Given the description of an element on the screen output the (x, y) to click on. 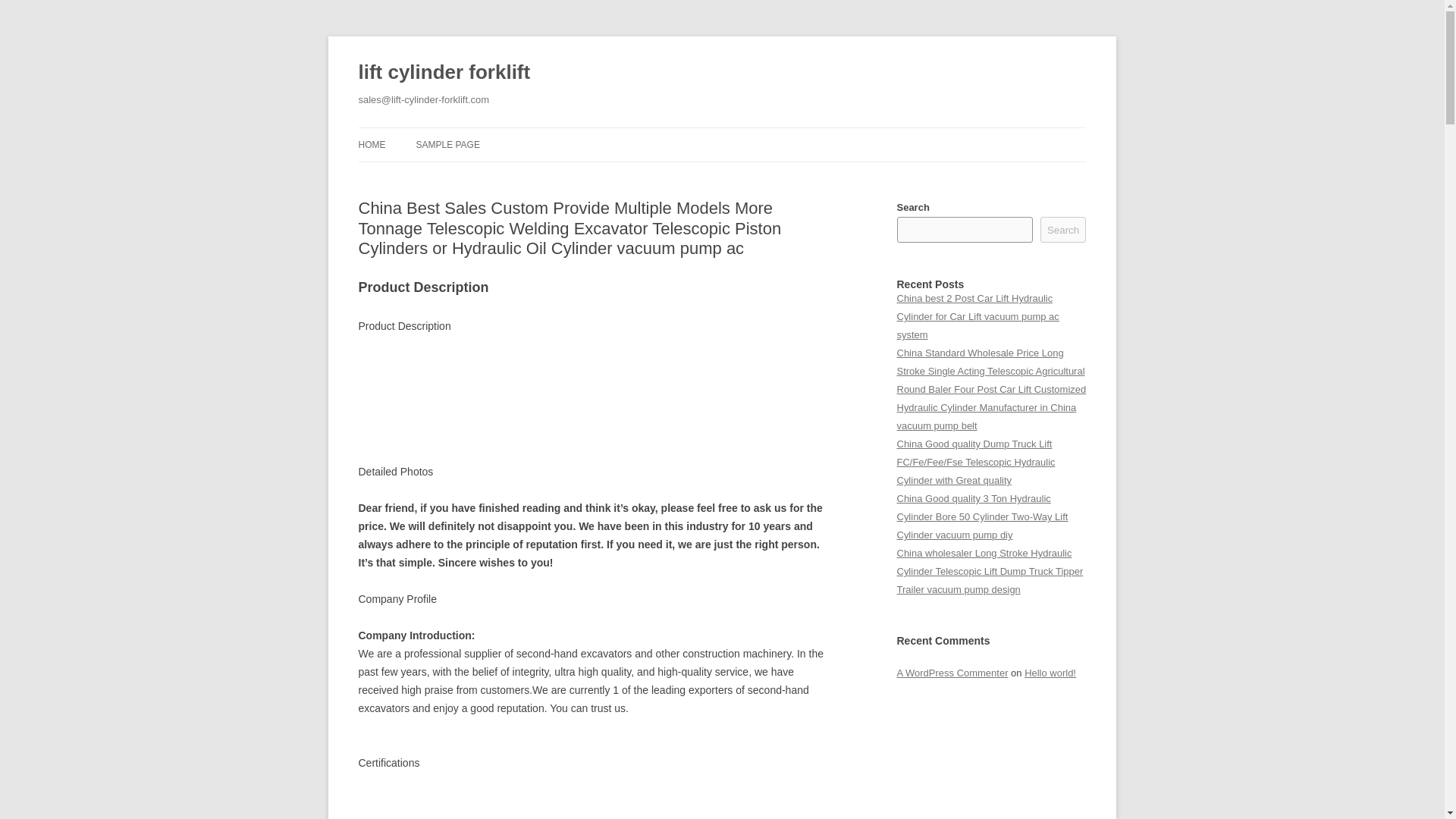
SAMPLE PAGE (446, 144)
lift cylinder forklift (443, 72)
